Given the description of an element on the screen output the (x, y) to click on. 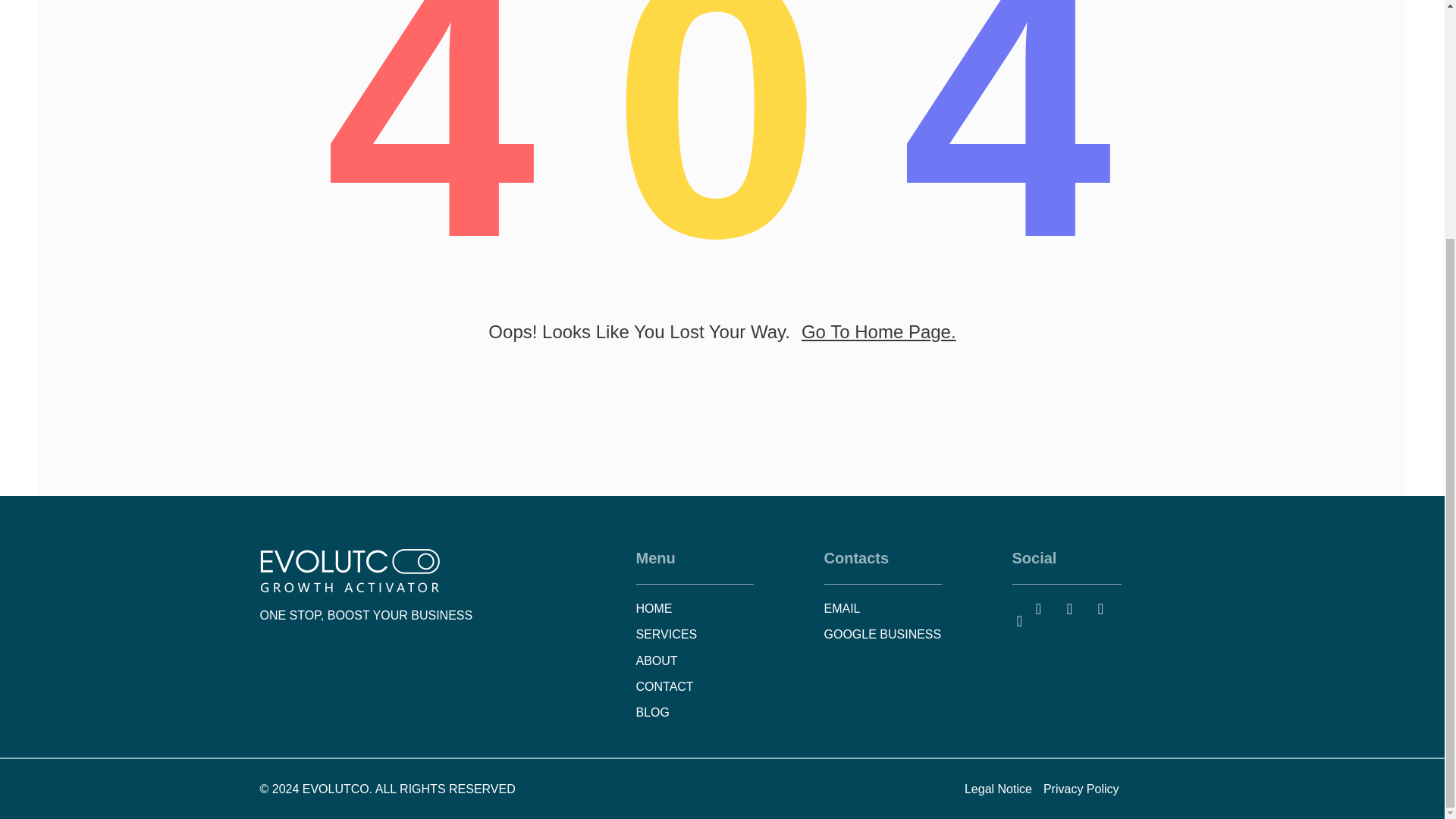
Go To Home Page. (879, 331)
Legal Notice (997, 789)
GOOGLE BUSINESS (909, 634)
Privacy Policy (1081, 789)
SERVICES (721, 634)
CONTACT (721, 686)
EMAIL (909, 608)
ABOUT (721, 660)
HOME (721, 608)
BLOG (721, 712)
